Given the description of an element on the screen output the (x, y) to click on. 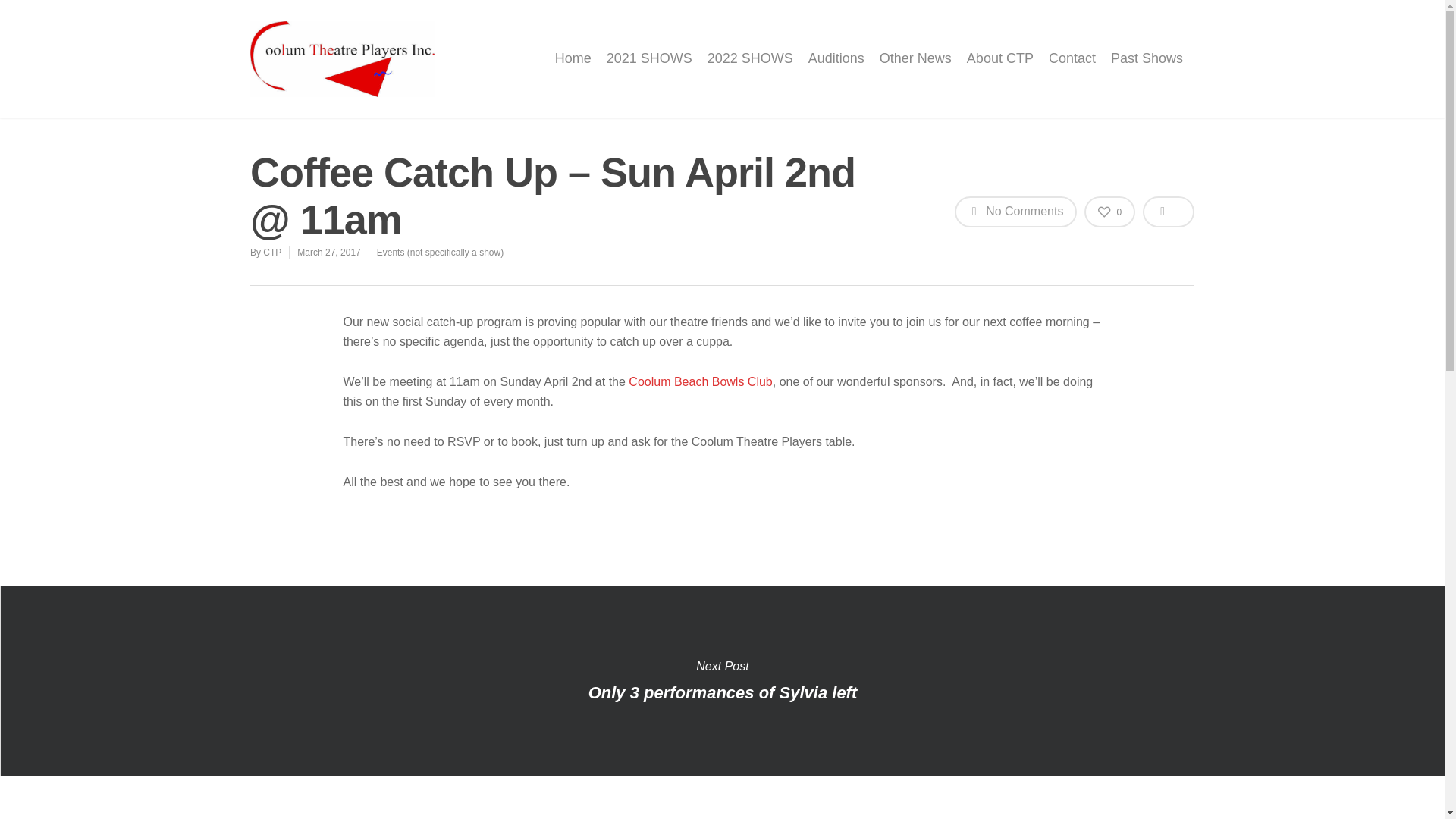
About CTP Element type: text (999, 69)
0 Element type: text (1109, 211)
CTP Element type: text (272, 252)
Past Shows Element type: text (1146, 69)
Other News Element type: text (915, 69)
Contact Element type: text (1071, 69)
Coolum Beach Bowls Club Element type: text (699, 381)
Only 3 performances of Sylvia left Element type: text (722, 680)
2022 SHOWS Element type: text (750, 69)
Auditions Element type: text (836, 69)
Only 3 performances of Sylvia left Element type: text (722, 693)
No Comments Element type: text (1015, 211)
Events (not specifically a show) Element type: text (439, 252)
Home Element type: text (573, 69)
2021 SHOWS Element type: text (649, 69)
